Given the description of an element on the screen output the (x, y) to click on. 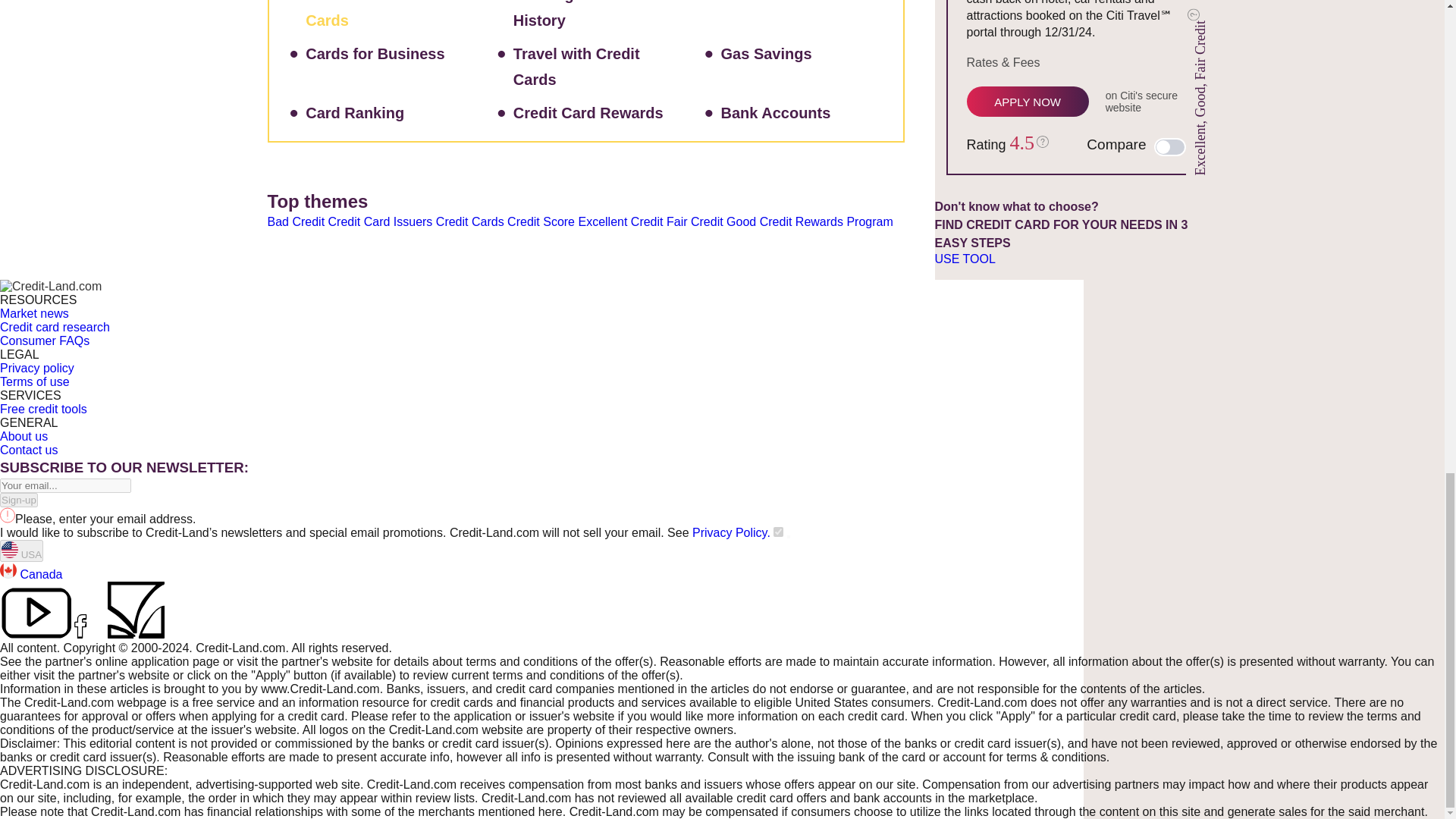
on (778, 532)
